Given the description of an element on the screen output the (x, y) to click on. 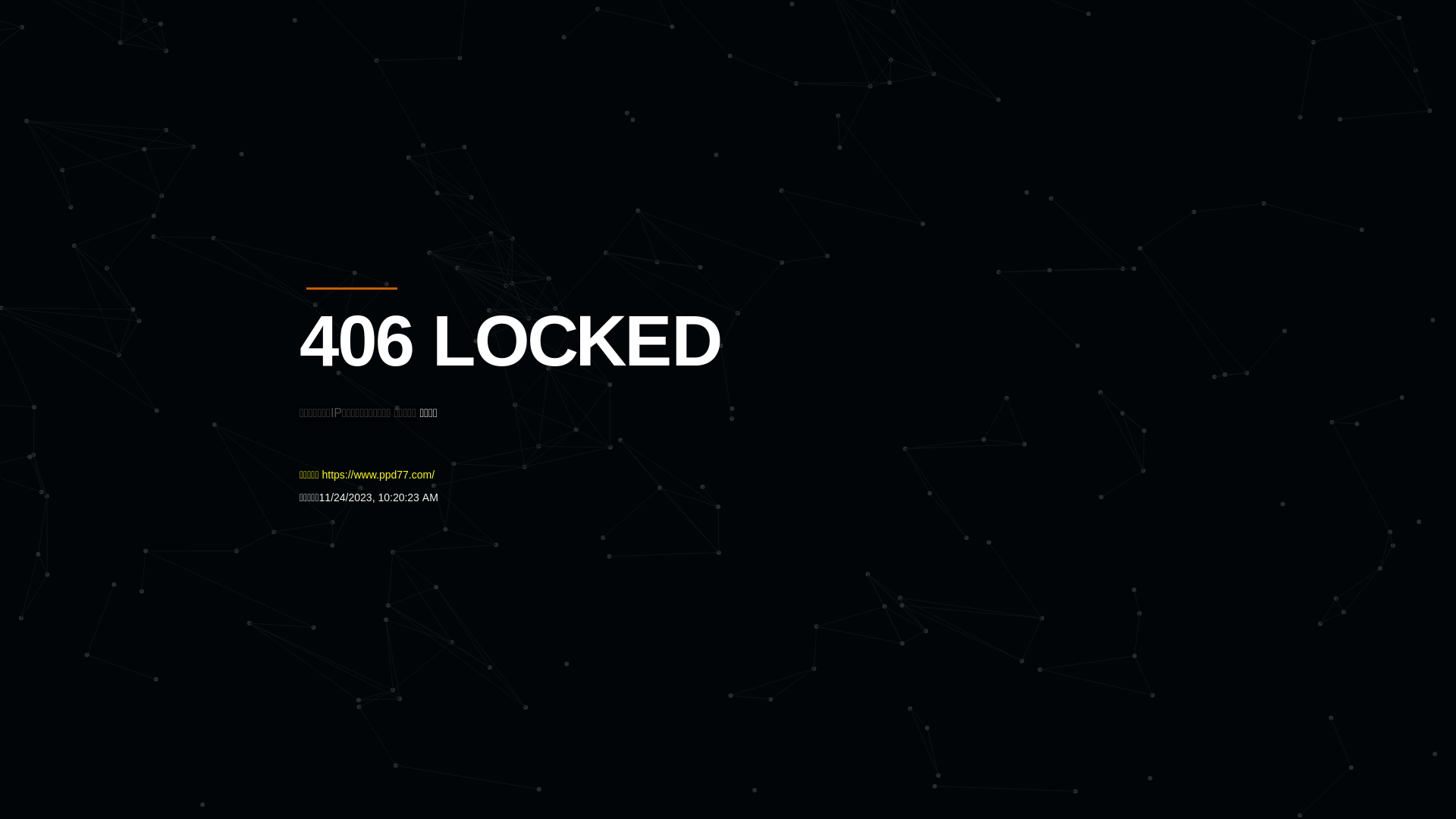
Quatro Element type: text (410, 86)
